Given the description of an element on the screen output the (x, y) to click on. 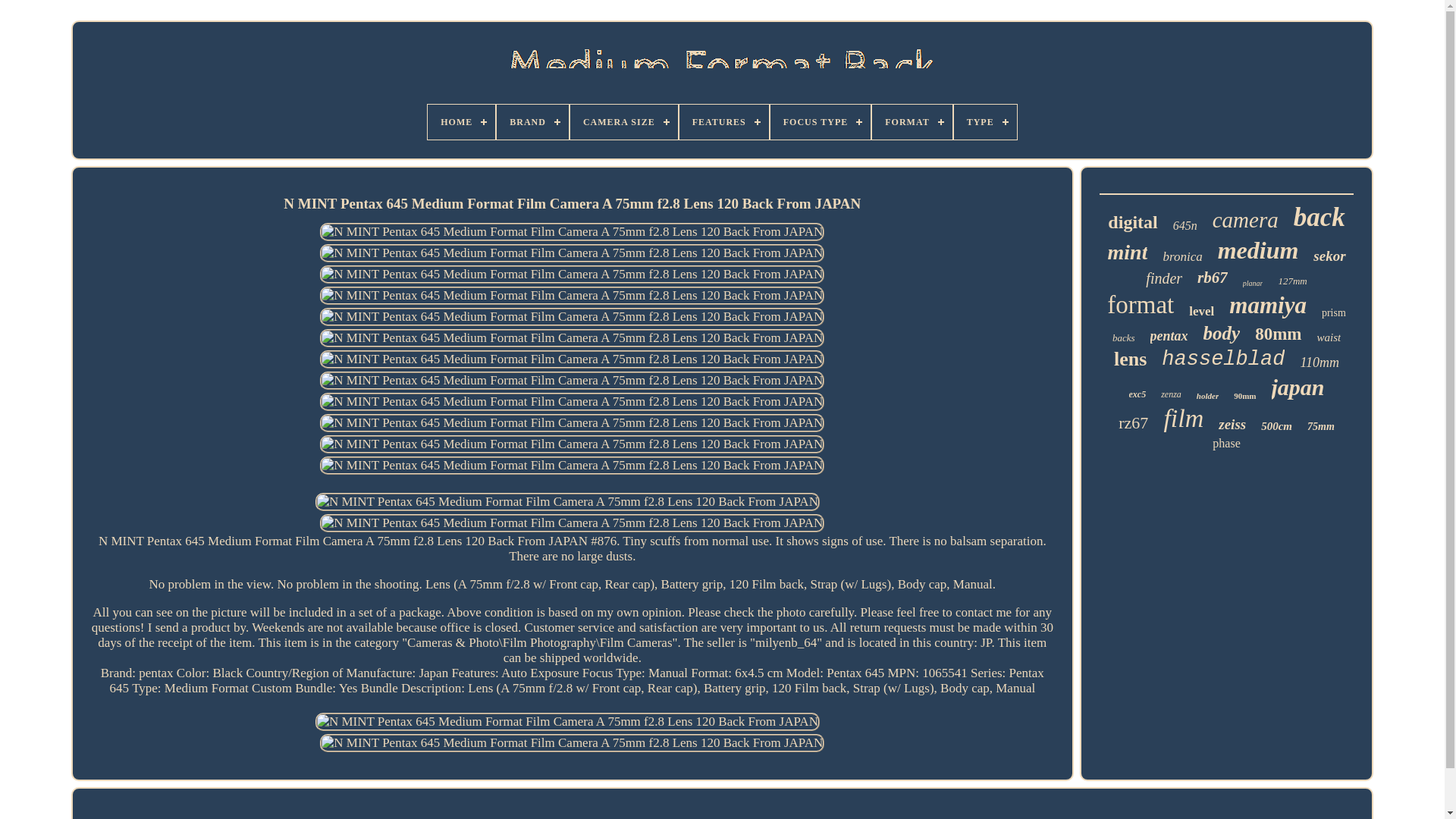
BRAND (532, 121)
HOME (461, 121)
